Given the description of an element on the screen output the (x, y) to click on. 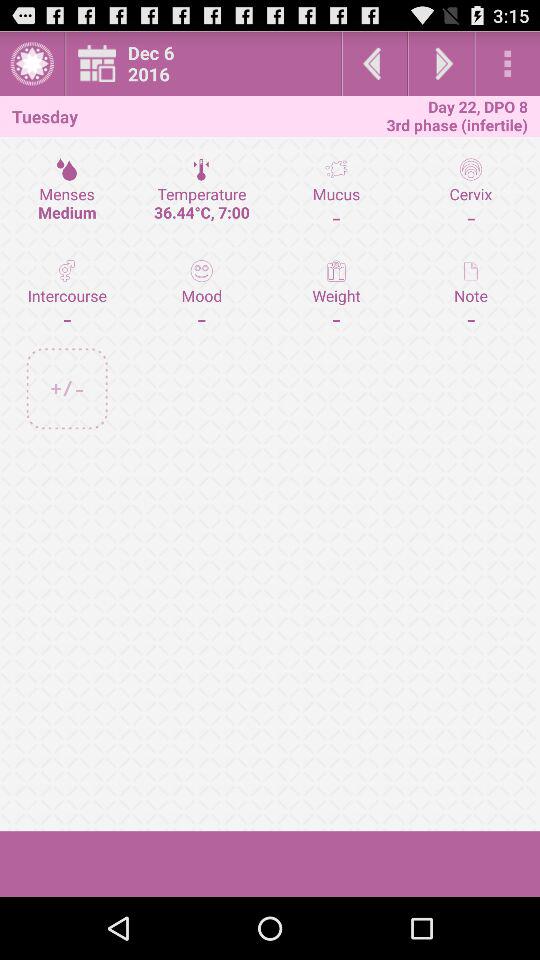
go back to previous day (374, 63)
